Given the description of an element on the screen output the (x, y) to click on. 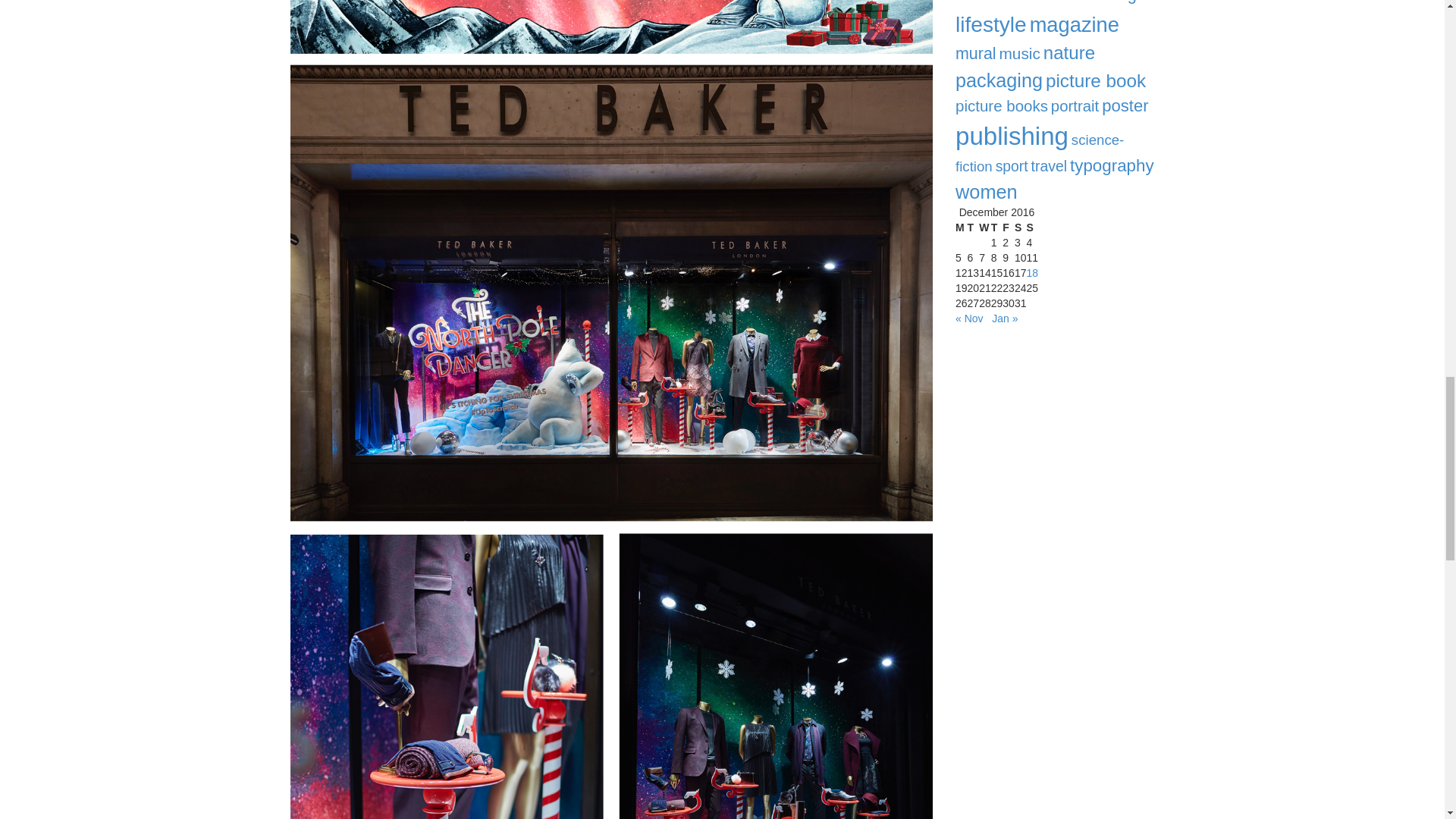
Monday (961, 227)
Wednesday (984, 227)
Tuesday (973, 227)
Saturday (1020, 227)
Thursday (997, 227)
Friday (1008, 227)
Sunday (1032, 227)
